Given the description of an element on the screen output the (x, y) to click on. 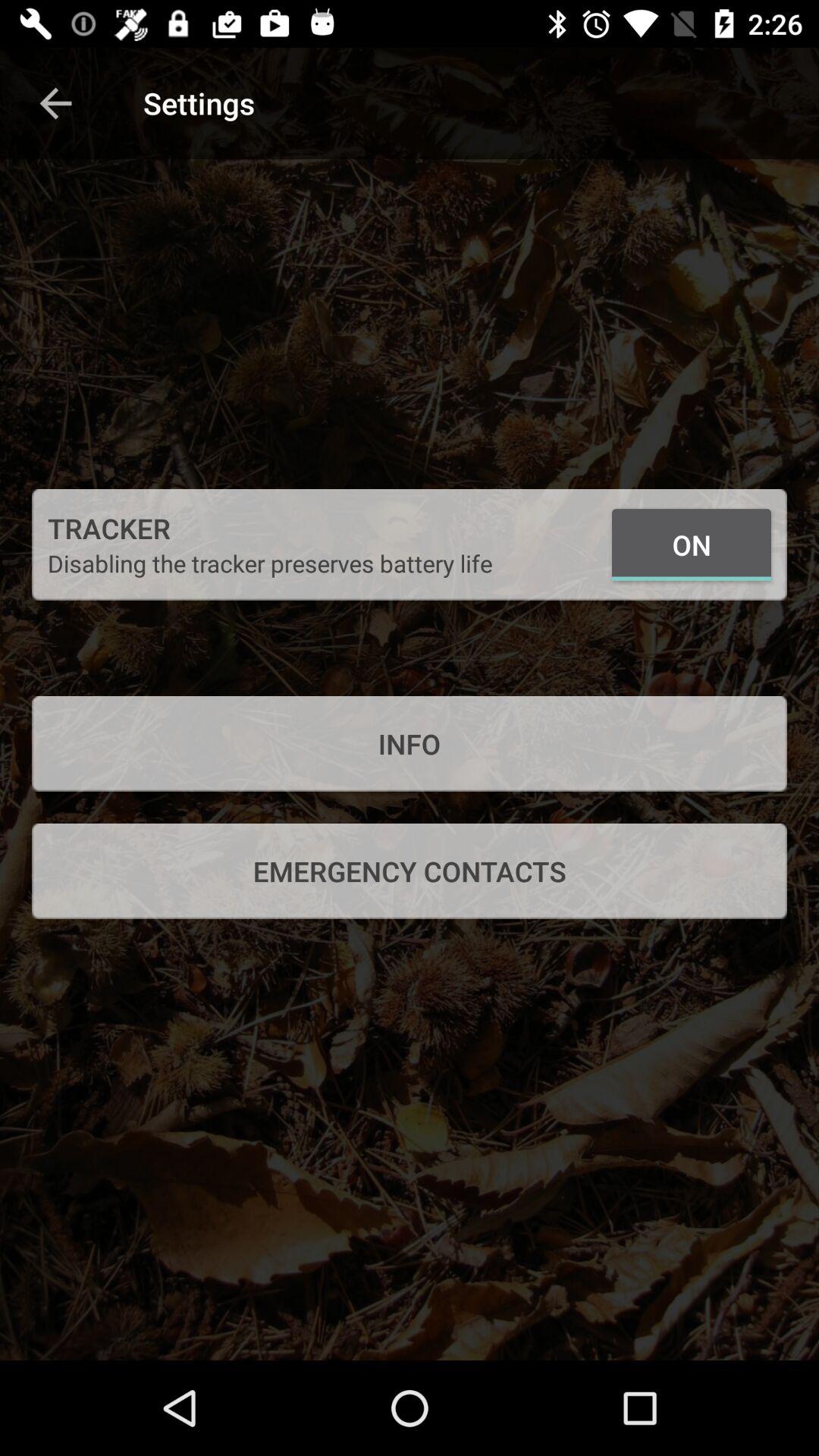
open the item above the emergency contacts icon (409, 743)
